Given the description of an element on the screen output the (x, y) to click on. 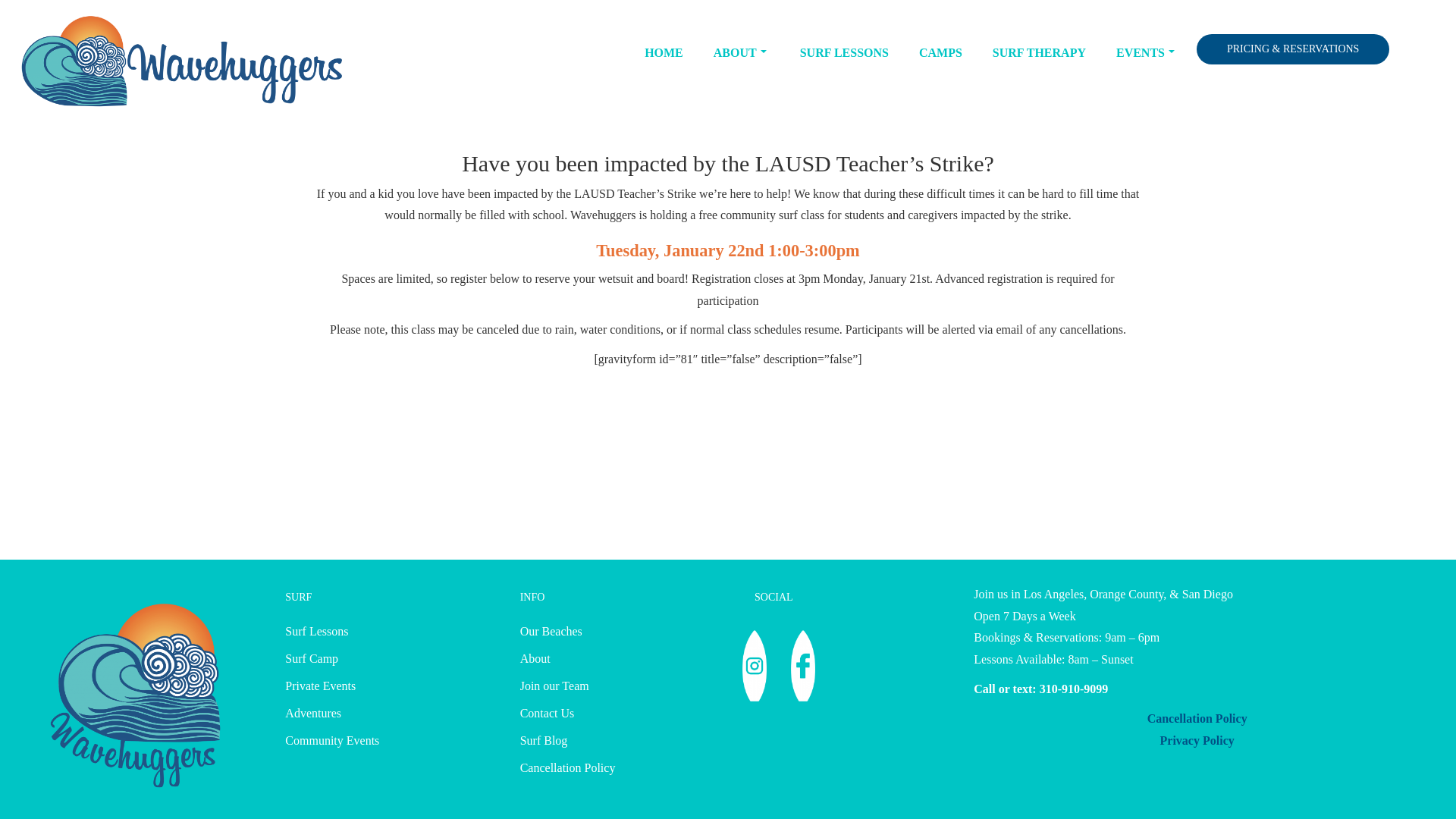
SURF LESSONS (844, 53)
ABOUT (741, 53)
EVENTS (1144, 53)
CAMPS (940, 53)
HOME (663, 53)
SURF THERAPY (1038, 53)
